Given the description of an element on the screen output the (x, y) to click on. 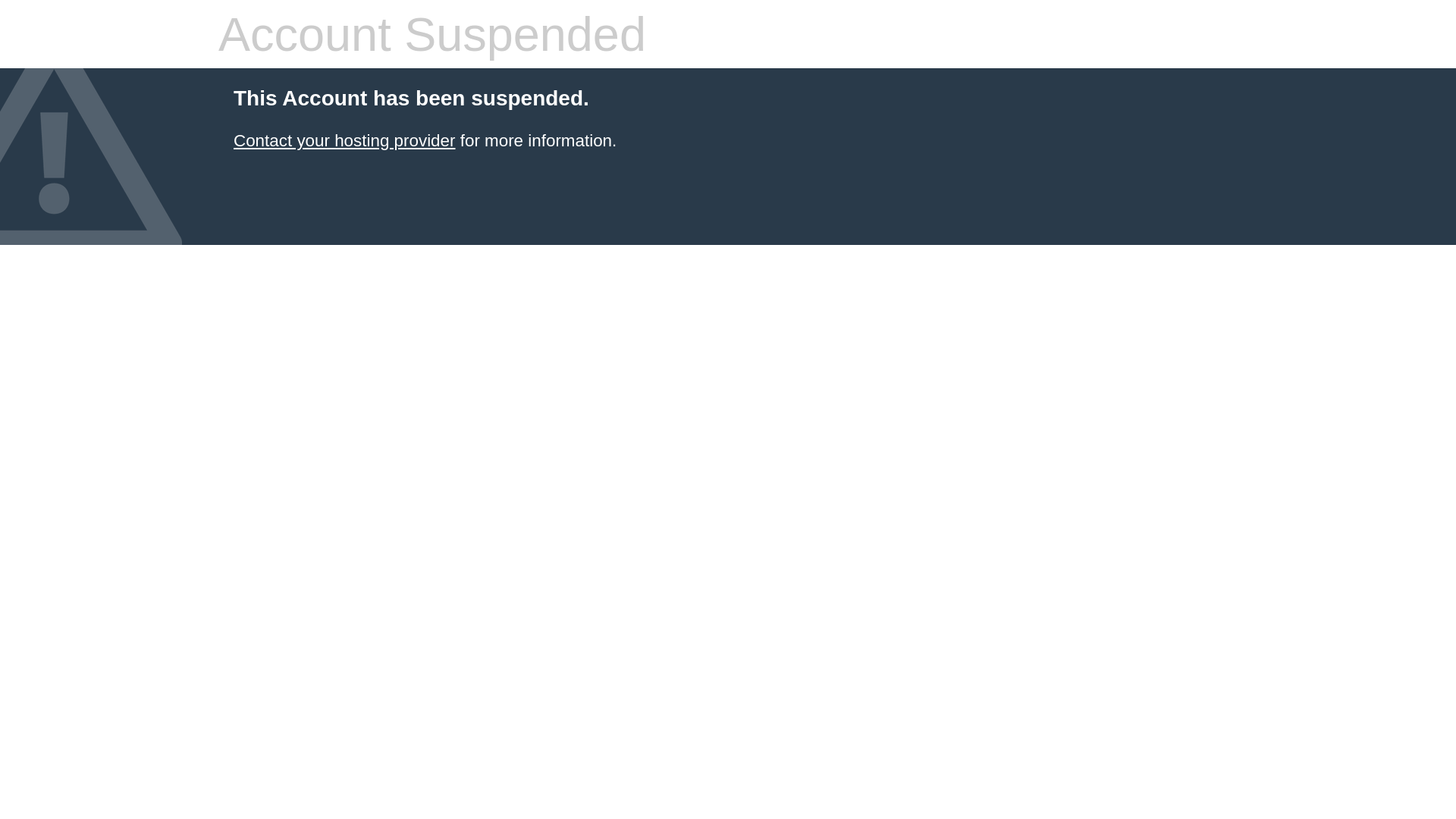
Contact your hosting provider Element type: text (344, 140)
